Given the description of an element on the screen output the (x, y) to click on. 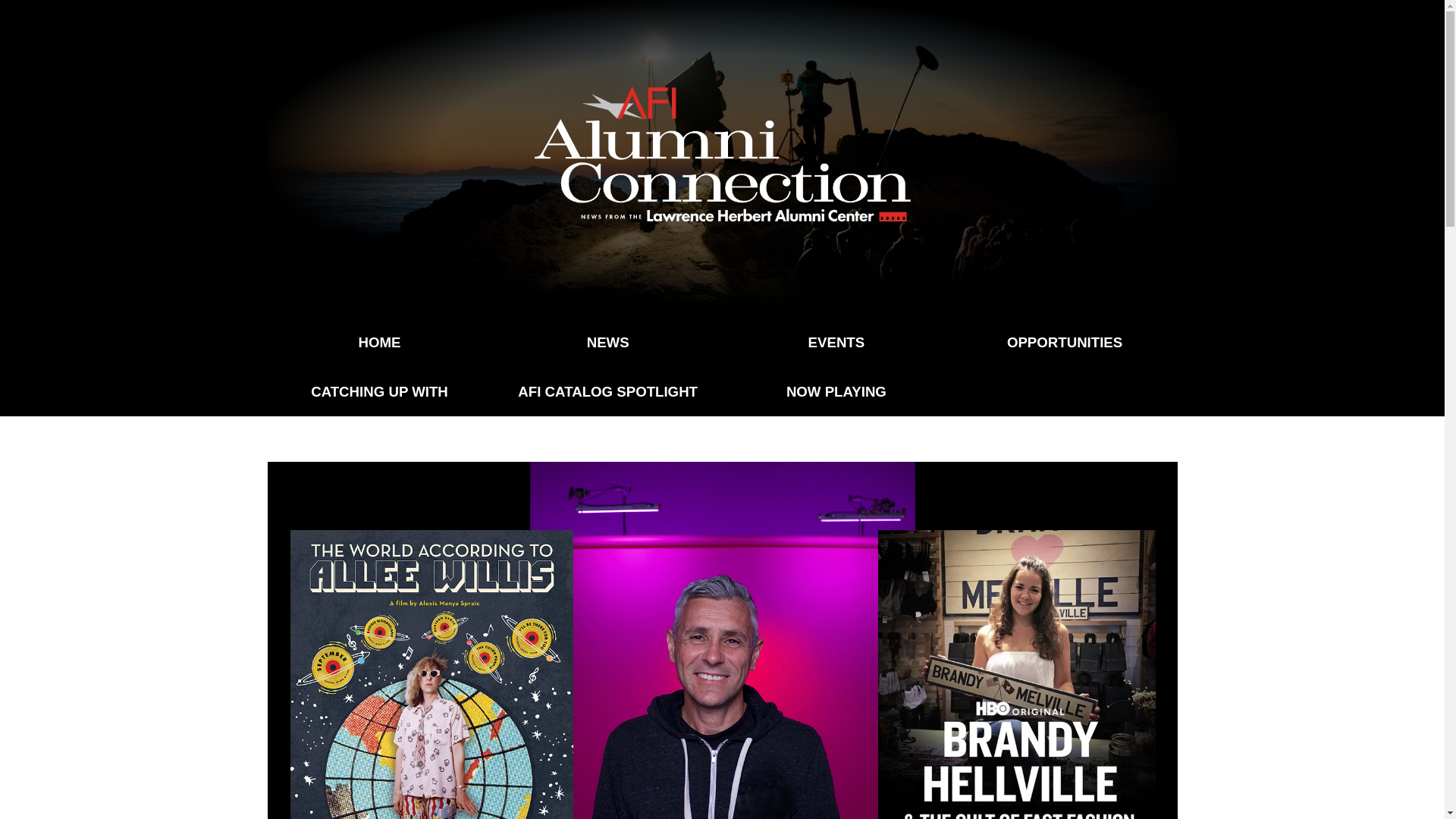
NEWS (607, 342)
AFI CATALOG SPOTLIGHT (607, 391)
OPPORTUNITIES (1064, 342)
NOW PLAYING (836, 391)
CATCHING UP WITH (379, 391)
HOME (379, 342)
EVENTS (836, 342)
